Given the description of an element on the screen output the (x, y) to click on. 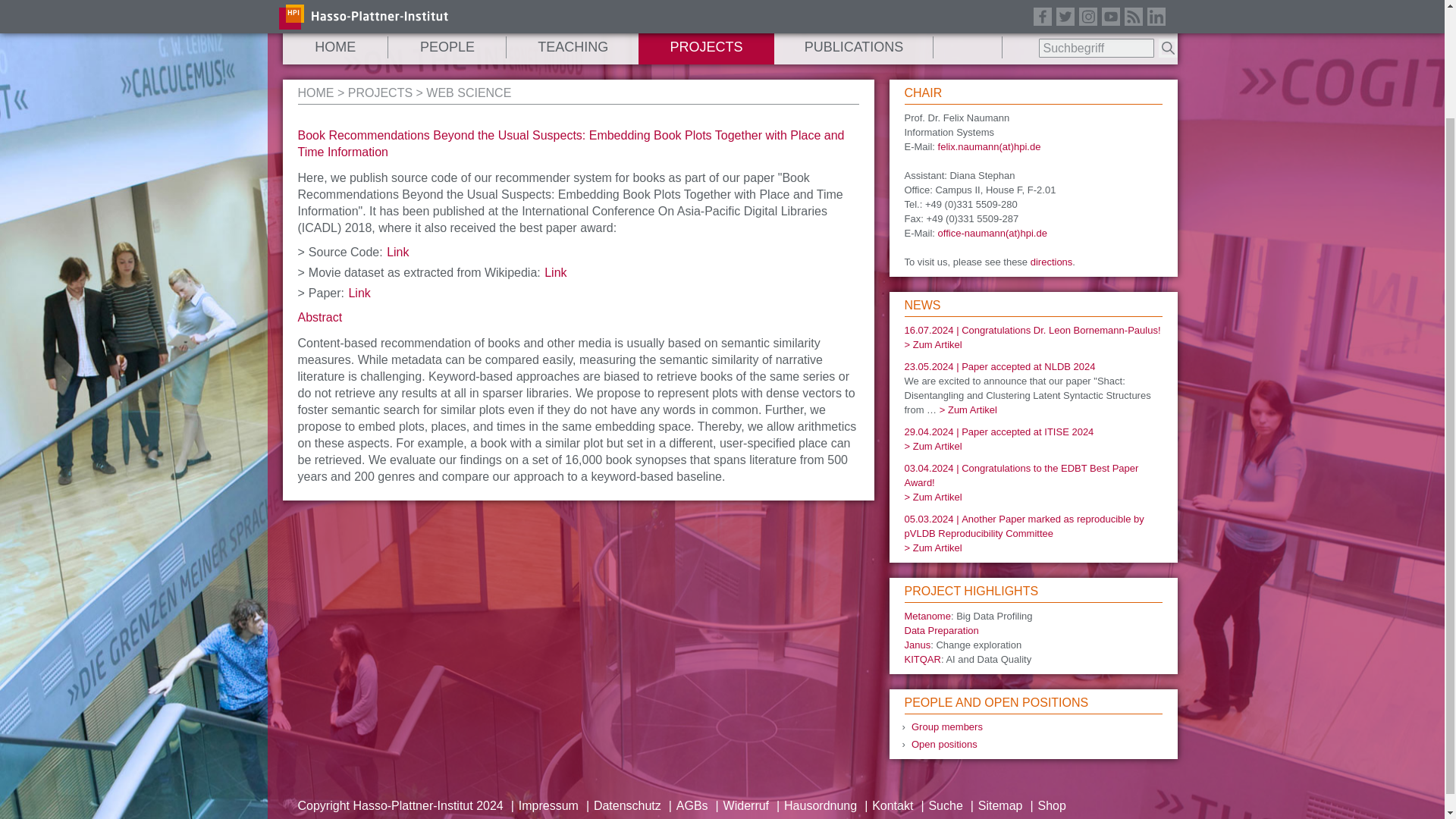
PROJECTS (706, 47)
Naumann (315, 92)
HOME (334, 47)
Web Science (468, 92)
Opens window for sending email (989, 146)
PEOPLE (447, 47)
PUBLICATIONS (853, 47)
Projects (379, 92)
TEACHING (573, 47)
SUCHEN (1167, 47)
